Given the description of an element on the screen output the (x, y) to click on. 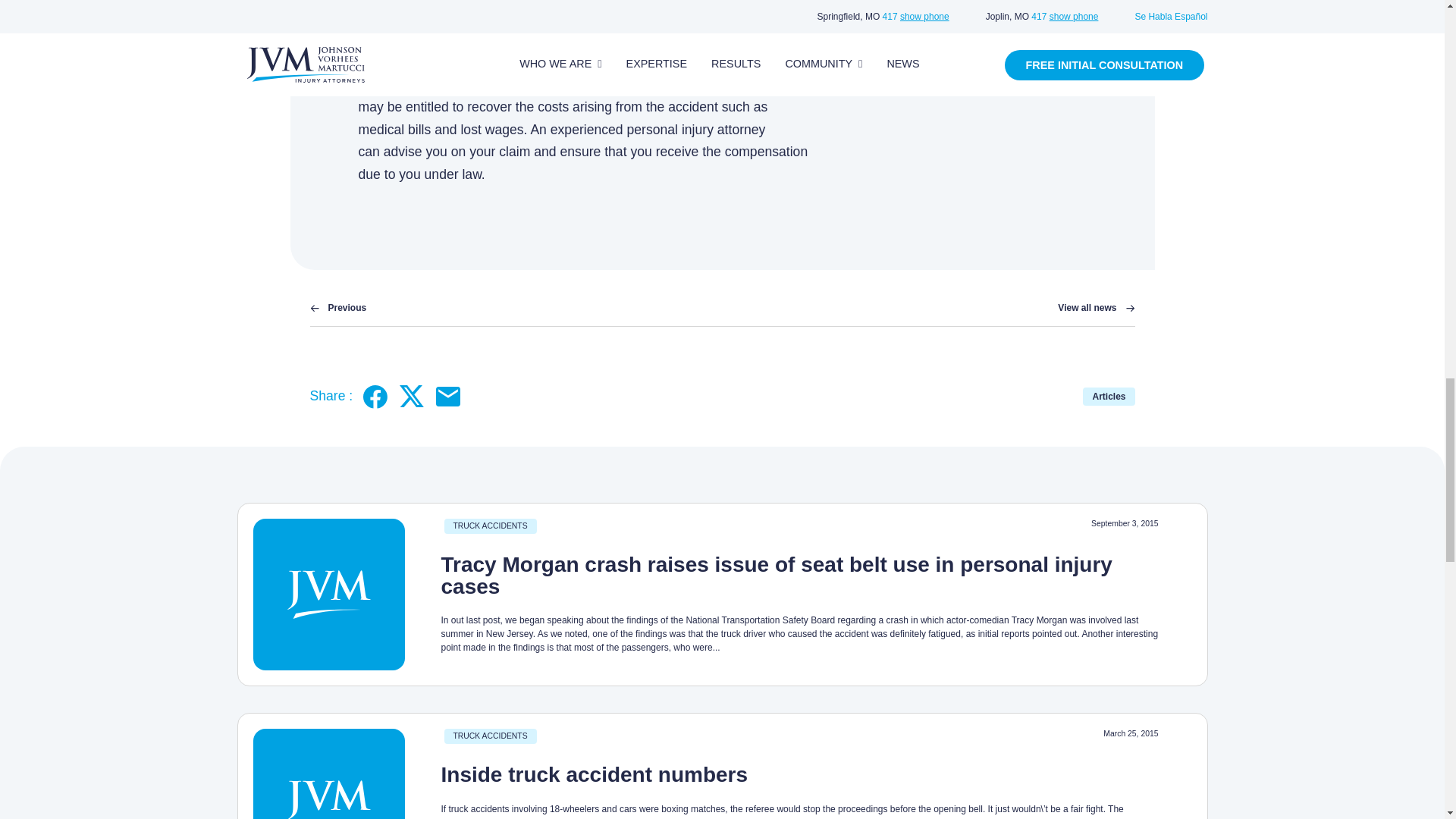
Inside truck accident numbers (594, 774)
Share on email (447, 396)
Previous (337, 307)
Share on twitter (411, 396)
View all news (1096, 307)
Share on facebook (374, 396)
Articles (1108, 396)
